Given the description of an element on the screen output the (x, y) to click on. 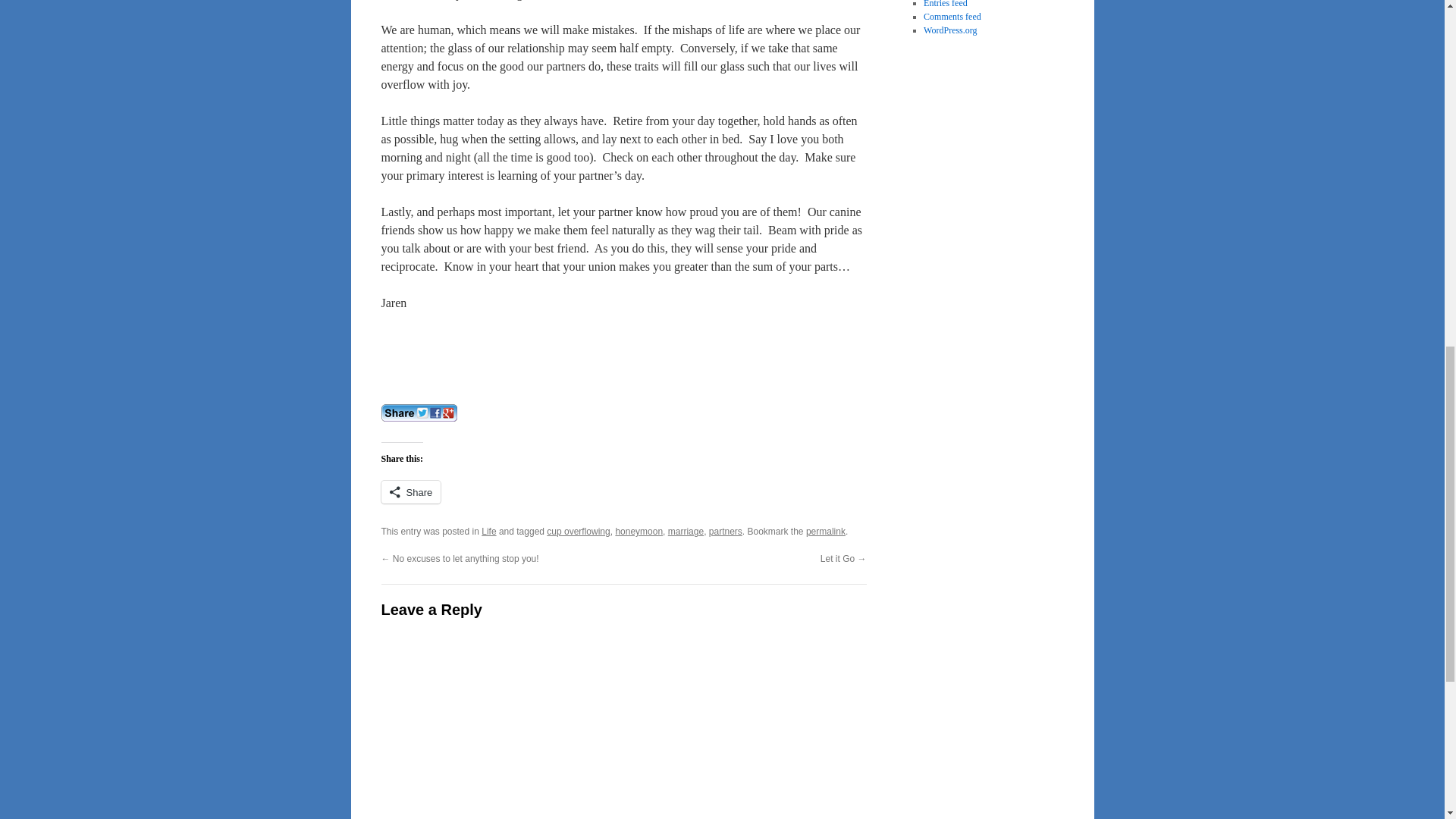
cup overflowing (578, 531)
permalink (825, 531)
partners (725, 531)
marriage (685, 531)
honeymoon (638, 531)
Comment Form (623, 727)
Permalink to Do honeymoons really have to end? (825, 531)
Life (488, 531)
Share (410, 491)
